Given the description of an element on the screen output the (x, y) to click on. 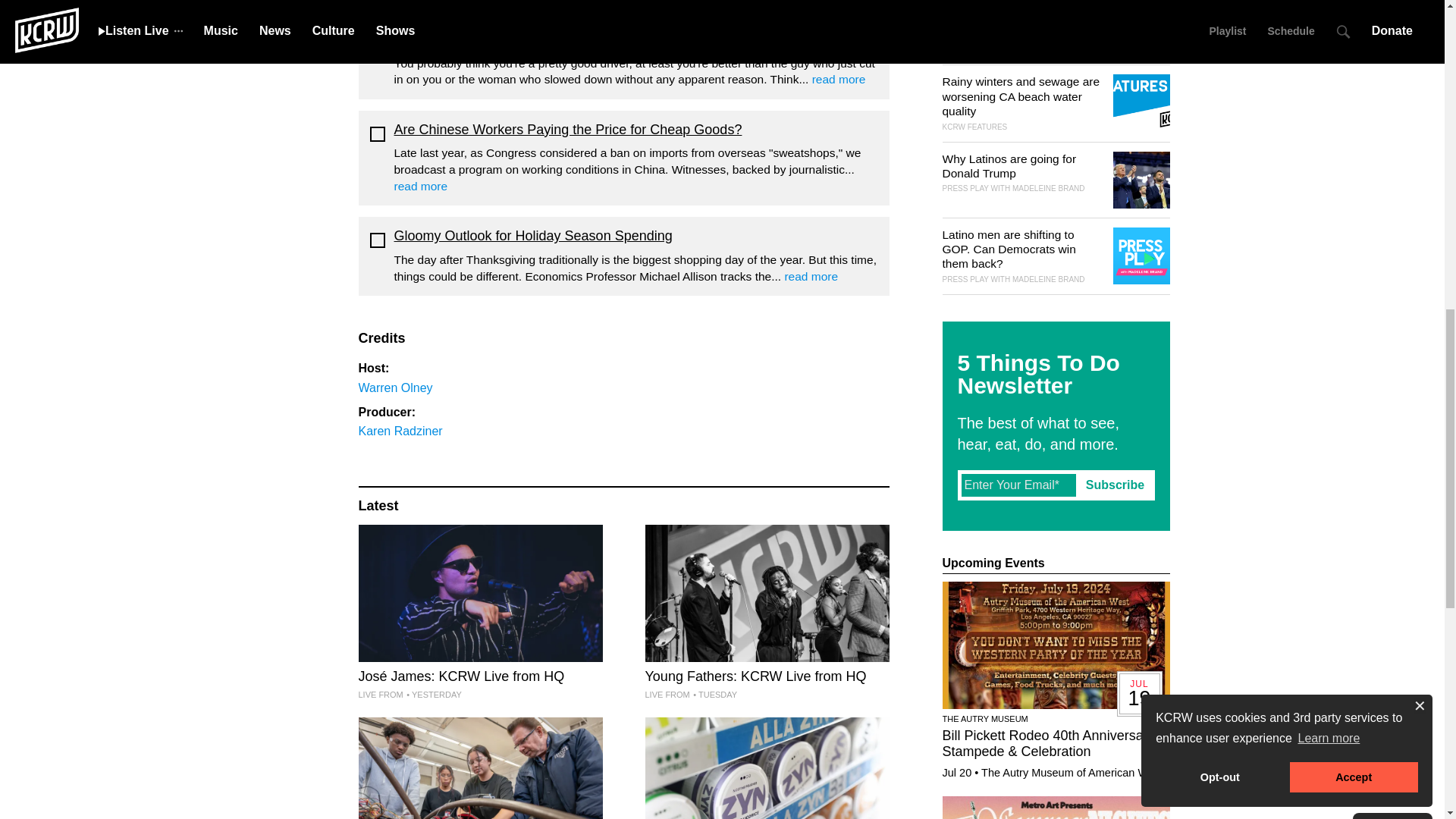
Tuesday, July 16th 2024, 10:00 pm (714, 694)
Subscribe (1114, 485)
Thursday, July 18th 2024, 10:00 pm (433, 694)
